Given the description of an element on the screen output the (x, y) to click on. 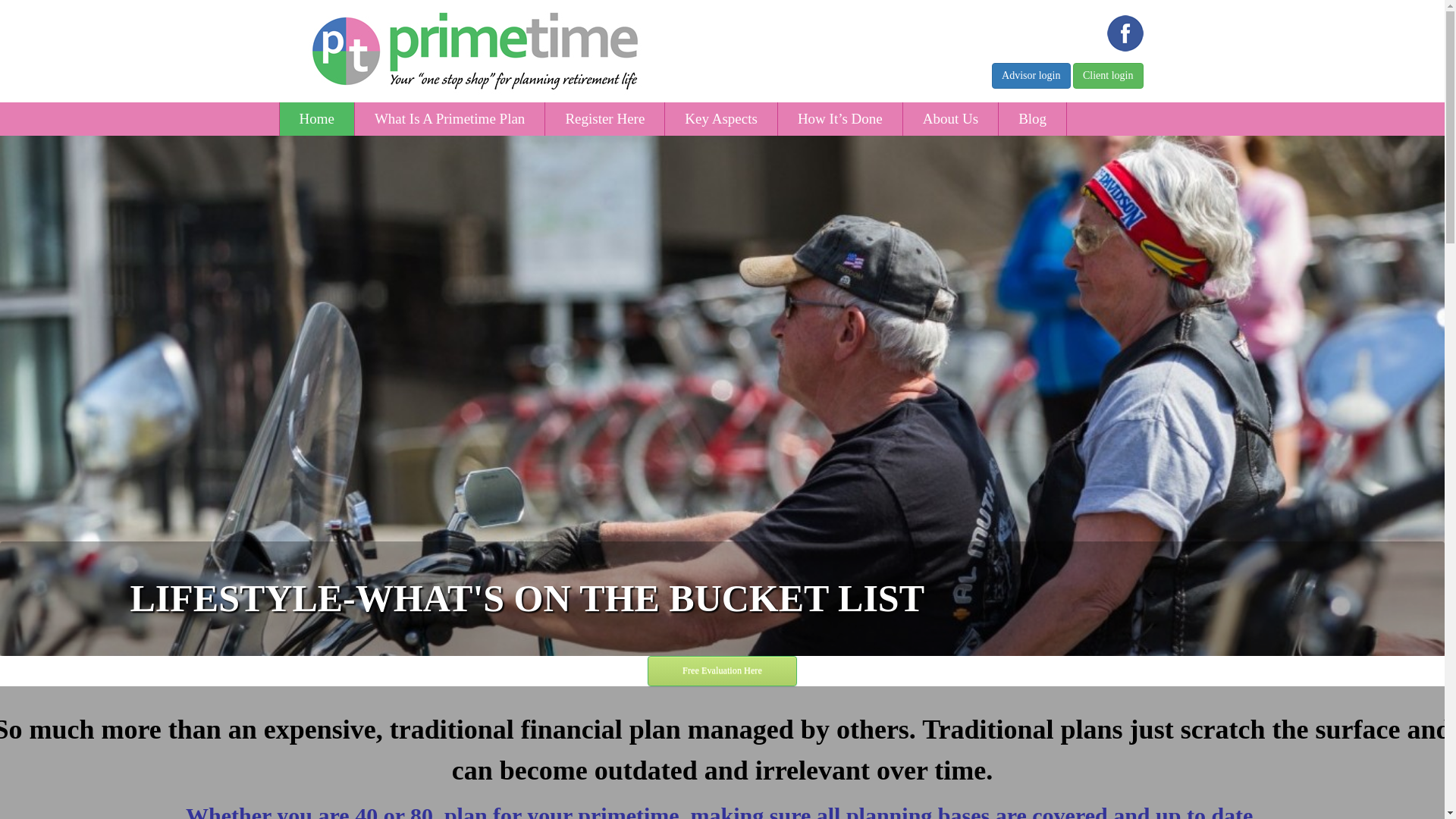
Advisor login Element type: text (1030, 75)
Register Here Element type: text (604, 118)
About Us Element type: text (950, 118)
Blog Element type: text (1032, 118)
Client login Element type: text (1108, 75)
Key Aspects Element type: text (721, 118)
Skip to content Element type: text (755, 110)
Free Evaluation Here Element type: text (722, 670)
Home Element type: text (316, 118)
What Is A Primetime Plan Element type: text (449, 118)
